Given the description of an element on the screen output the (x, y) to click on. 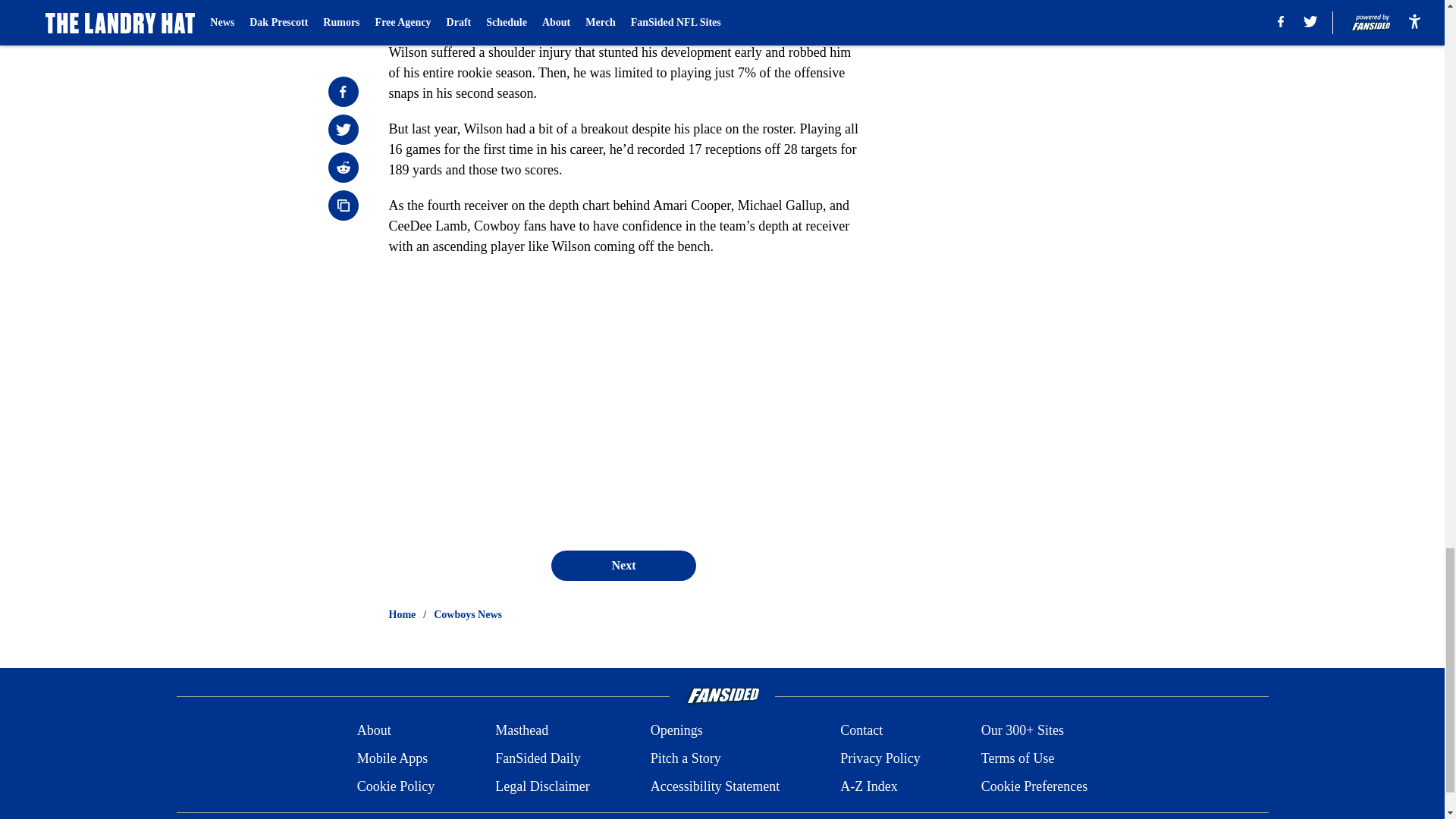
Masthead (521, 730)
FanSided Daily (537, 758)
Pitch a Story (685, 758)
Contact (861, 730)
Home (401, 614)
About (373, 730)
Openings (676, 730)
Mobile Apps (392, 758)
Cowboys News (467, 614)
Next (622, 565)
